Given the description of an element on the screen output the (x, y) to click on. 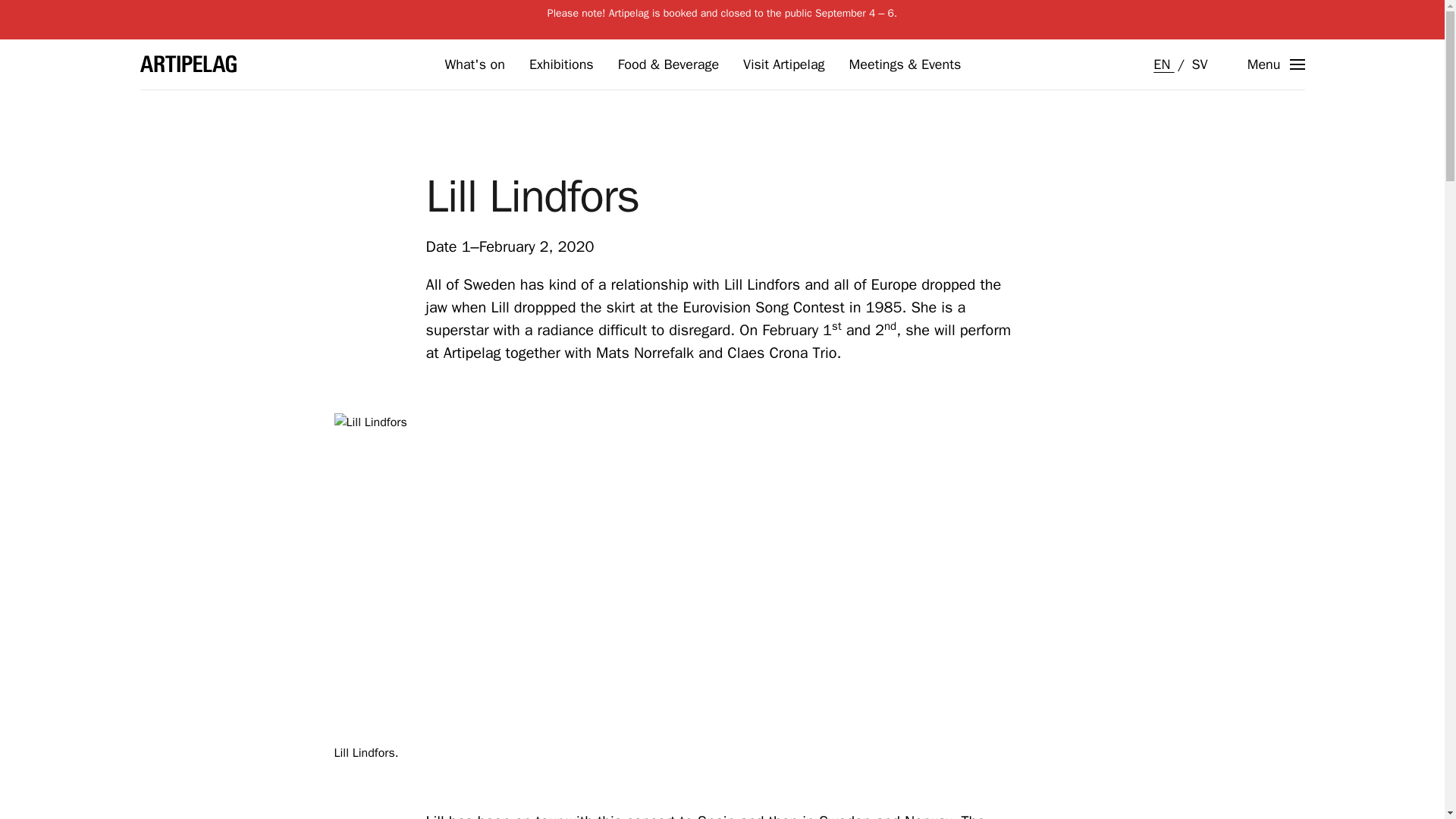
Menu (1275, 64)
What's on (473, 64)
Exhibitions (561, 64)
EN (1163, 64)
Visit Artipelag (783, 64)
SV (1199, 64)
Artipelag (187, 63)
